Given the description of an element on the screen output the (x, y) to click on. 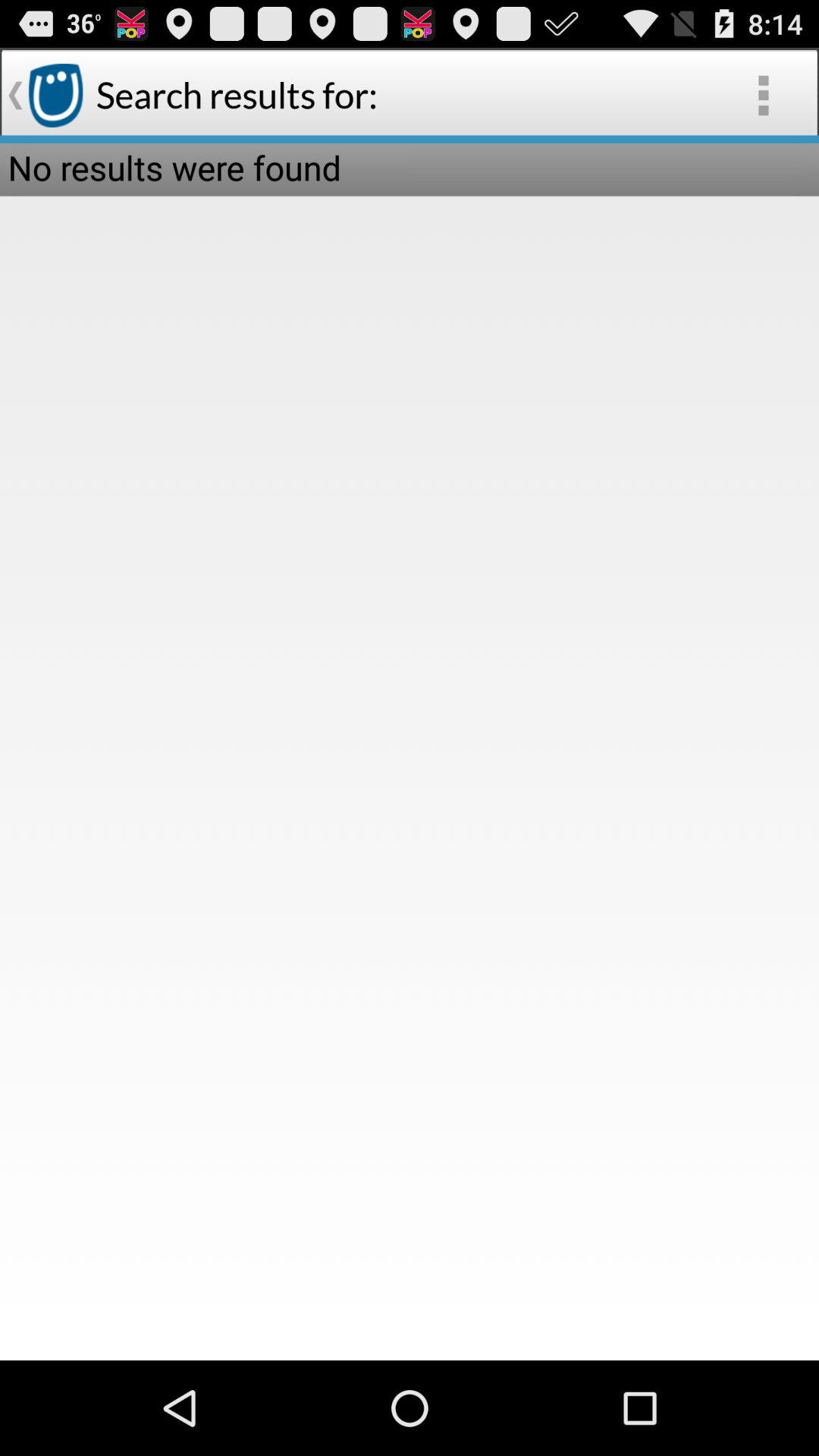
tap the app to the right of the search results for:  item (763, 95)
